Given the description of an element on the screen output the (x, y) to click on. 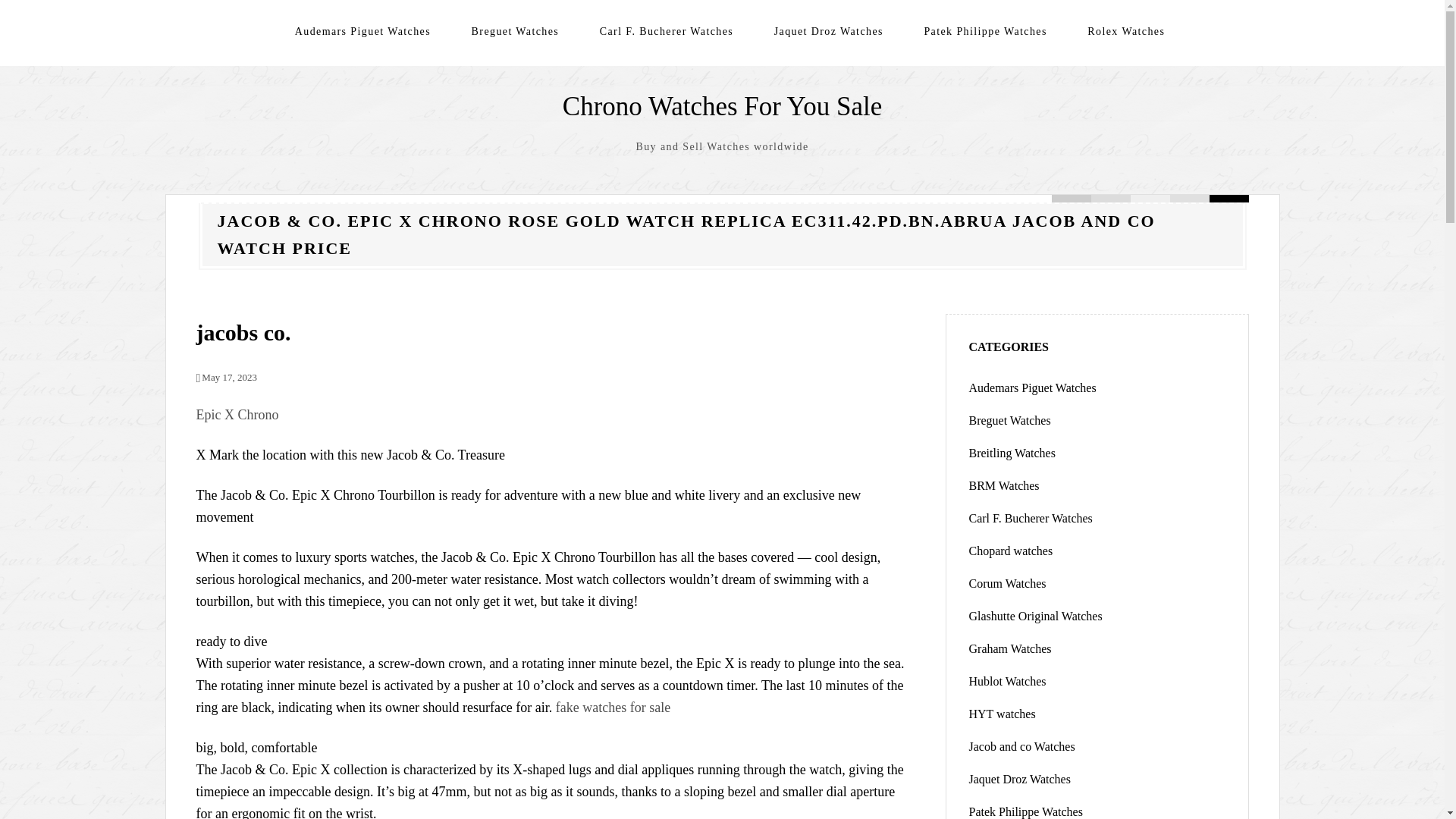
Carl F. Bucherer Watches (1031, 517)
3:10 am (225, 377)
Patek Philippe Watches (984, 31)
Skip to content (206, 10)
Epic X Chrono (236, 414)
Glashutte Original Watches (1035, 615)
Skip to content (206, 10)
Breguet Watches (515, 31)
Audemars Piguet Watches (1032, 387)
Jaquet Droz Watches (828, 31)
Chopard watches (1010, 550)
Corum Watches (1007, 583)
jacobs co. (242, 332)
May 17, 2023 (225, 377)
